Given the description of an element on the screen output the (x, y) to click on. 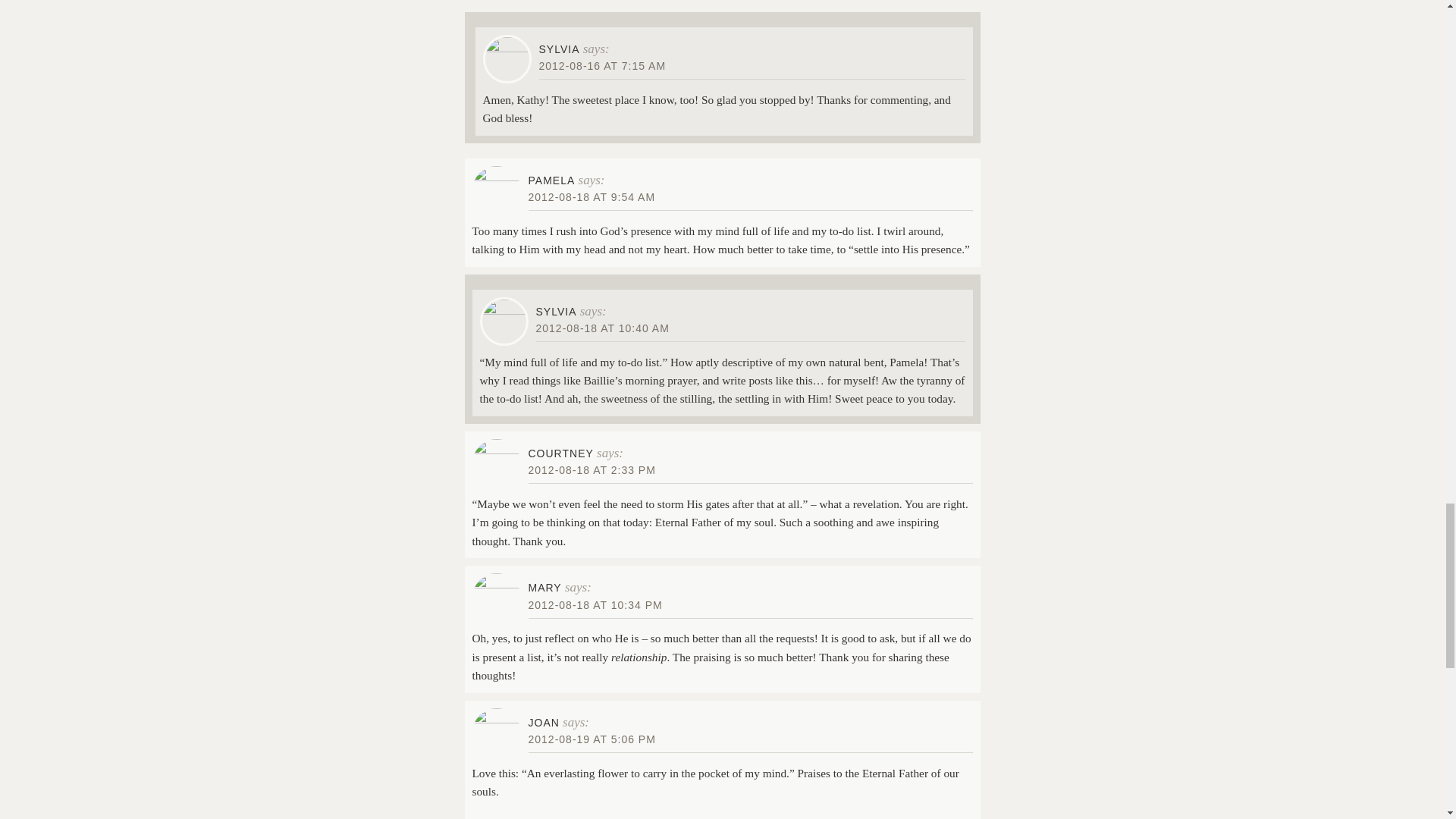
2012-08-19 AT 5:06 PM (591, 739)
2012-08-18 AT 10:40 AM (601, 328)
PAMELA (551, 180)
2012-08-18 AT 9:54 AM (591, 196)
JOAN (543, 722)
2012-08-18 AT 10:34 PM (594, 604)
2012-08-18 AT 2:33 PM (591, 469)
2012-08-16 AT 7:15 AM (601, 65)
COURTNEY (559, 453)
MARY (543, 587)
